Given the description of an element on the screen output the (x, y) to click on. 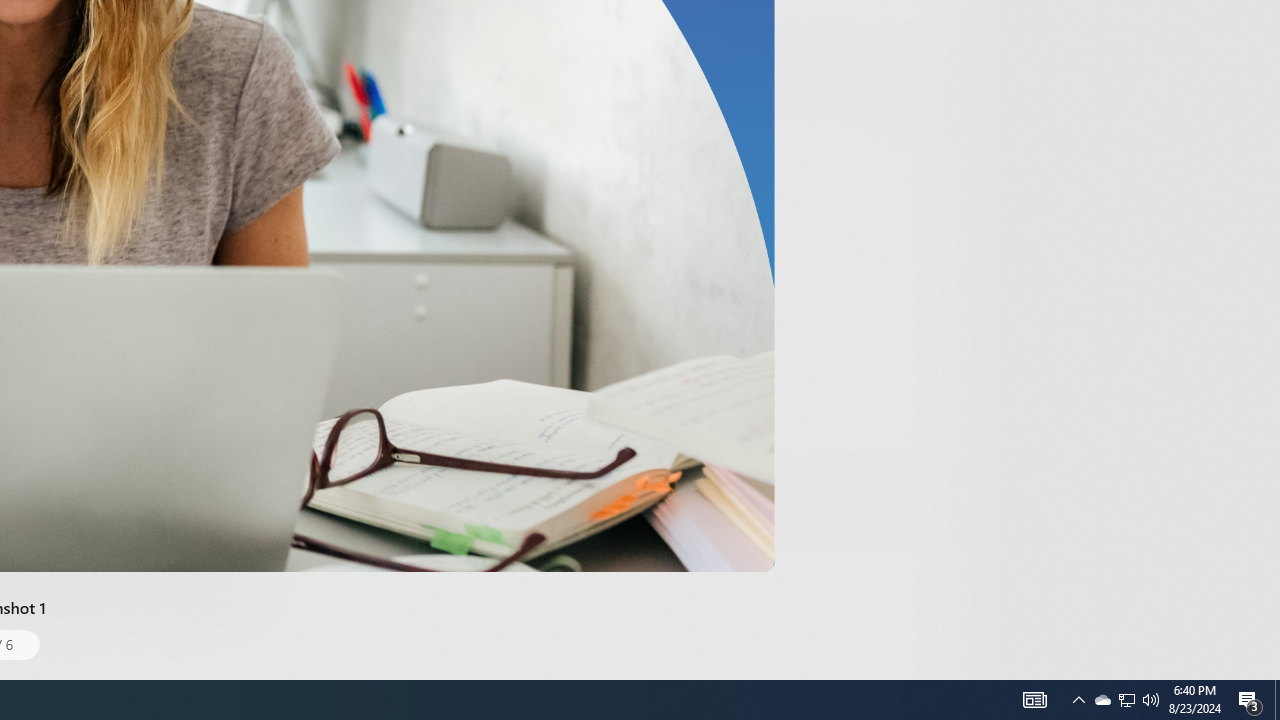
Show all ratings and reviews (924, 97)
